Given the description of an element on the screen output the (x, y) to click on. 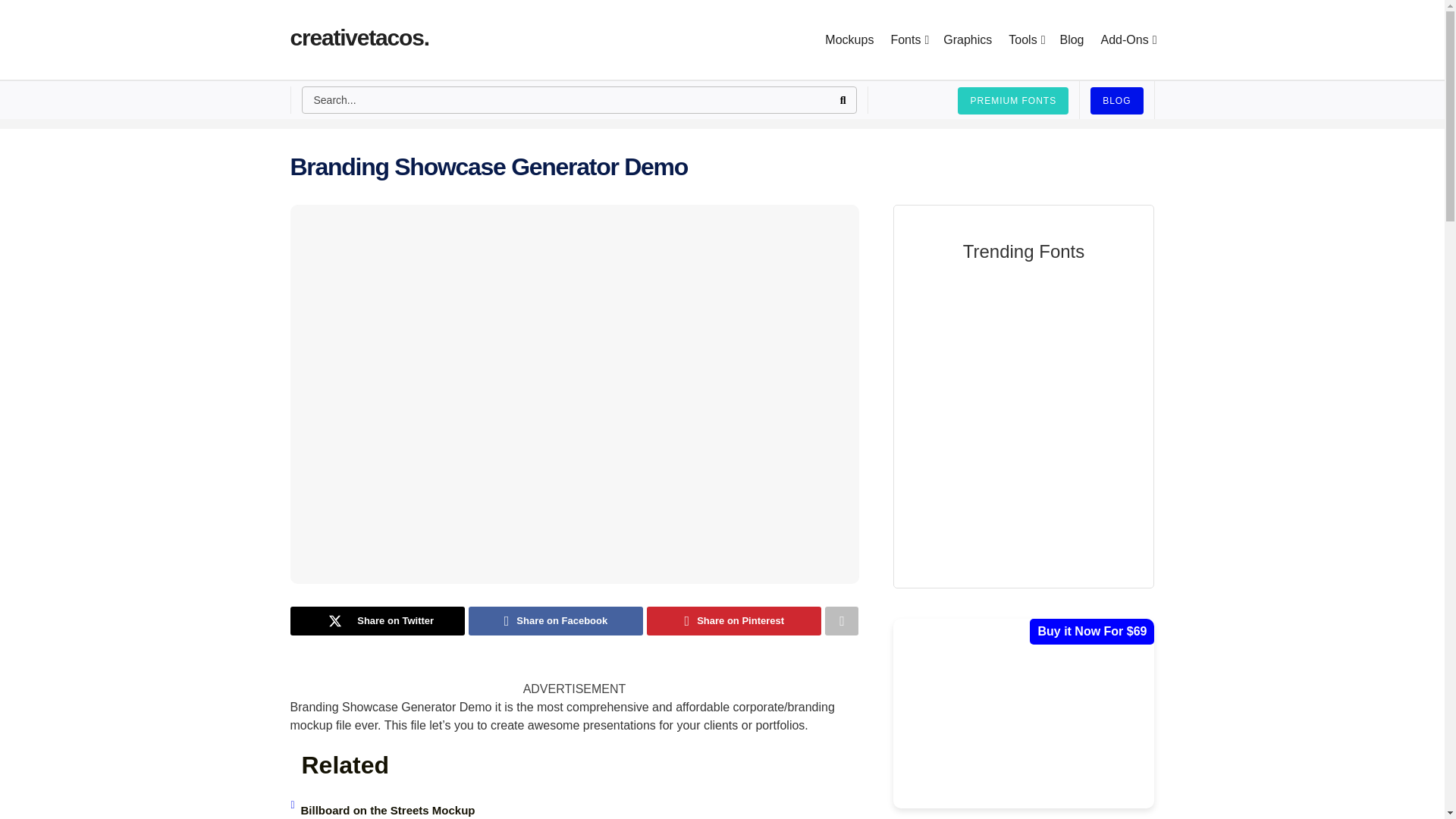
Tools (1025, 39)
Mockups (849, 39)
Fonts (907, 39)
BLOG (1116, 100)
Add-Ons (1127, 39)
Graphics (967, 39)
creativetacos. (358, 39)
Blog (1071, 39)
PREMIUM FONTS (1013, 100)
